Given the description of an element on the screen output the (x, y) to click on. 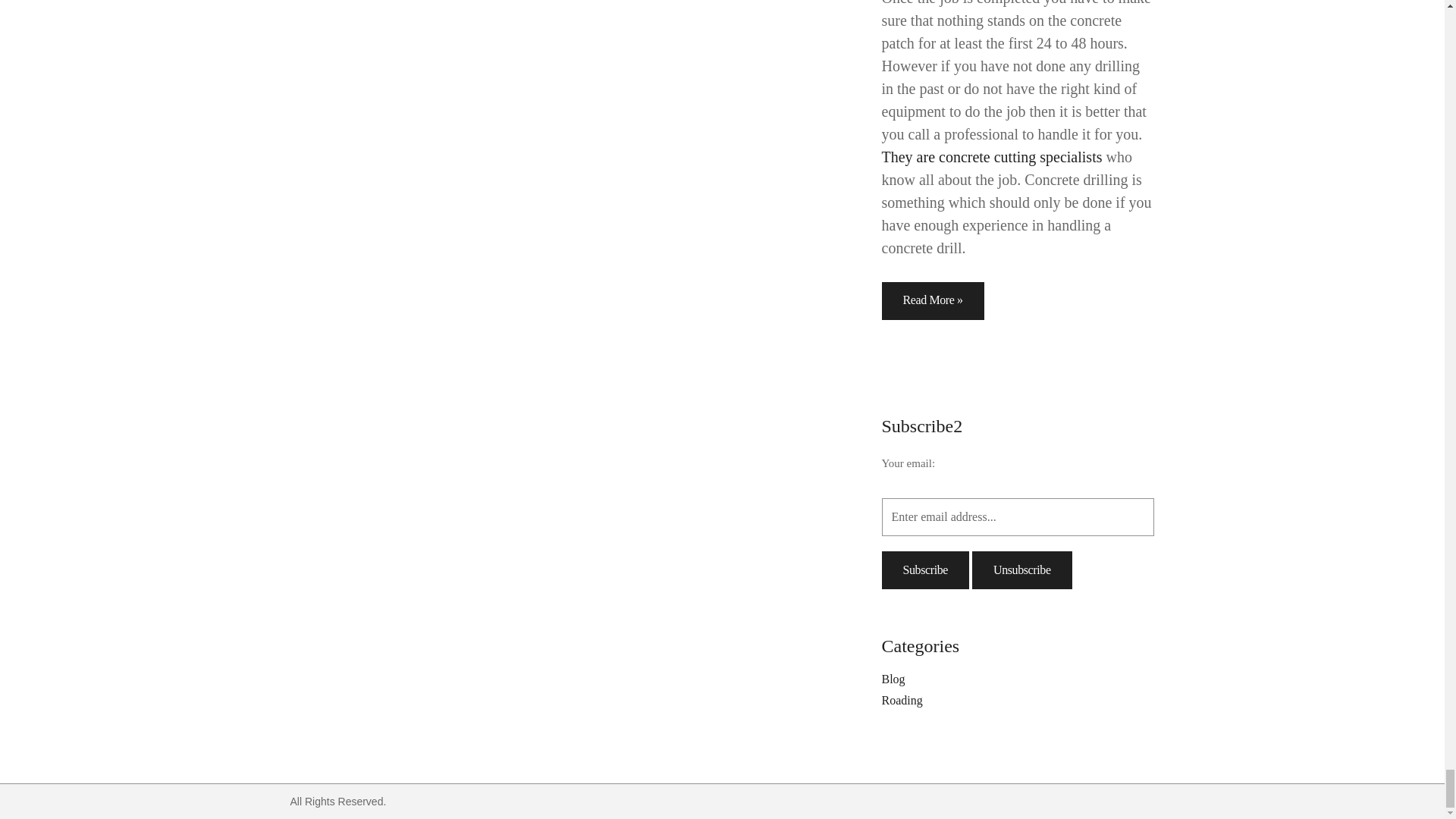
Unsubscribe (1021, 569)
Subscribe (924, 569)
Enter email address... (1017, 516)
